Given the description of an element on the screen output the (x, y) to click on. 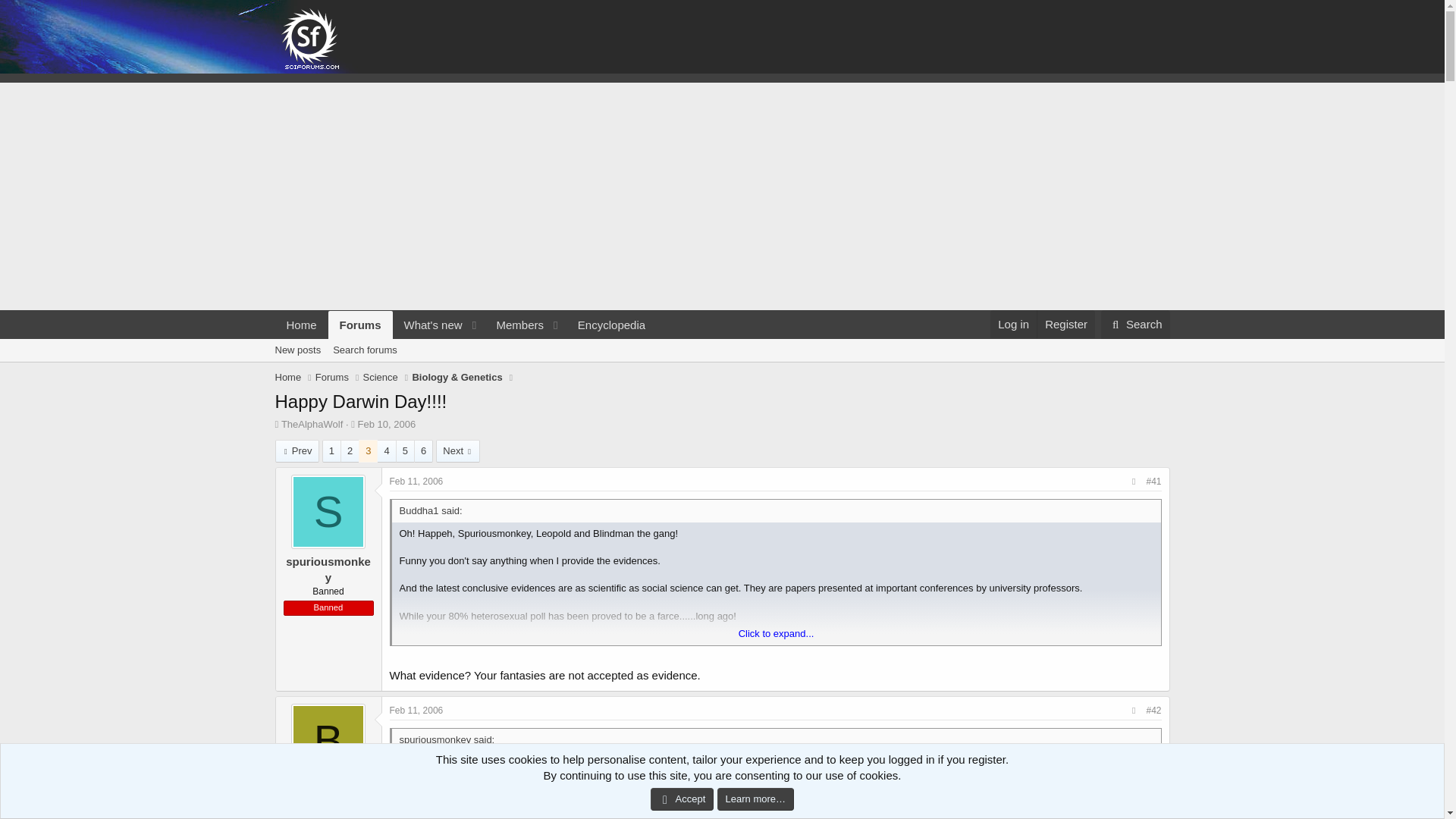
What's new (428, 325)
TheAlphaWolf (464, 342)
Register (311, 423)
Feb 10, 2006 (1065, 324)
Forums (387, 423)
Home (332, 377)
Members (301, 325)
Science (514, 325)
Search (379, 377)
